Given the description of an element on the screen output the (x, y) to click on. 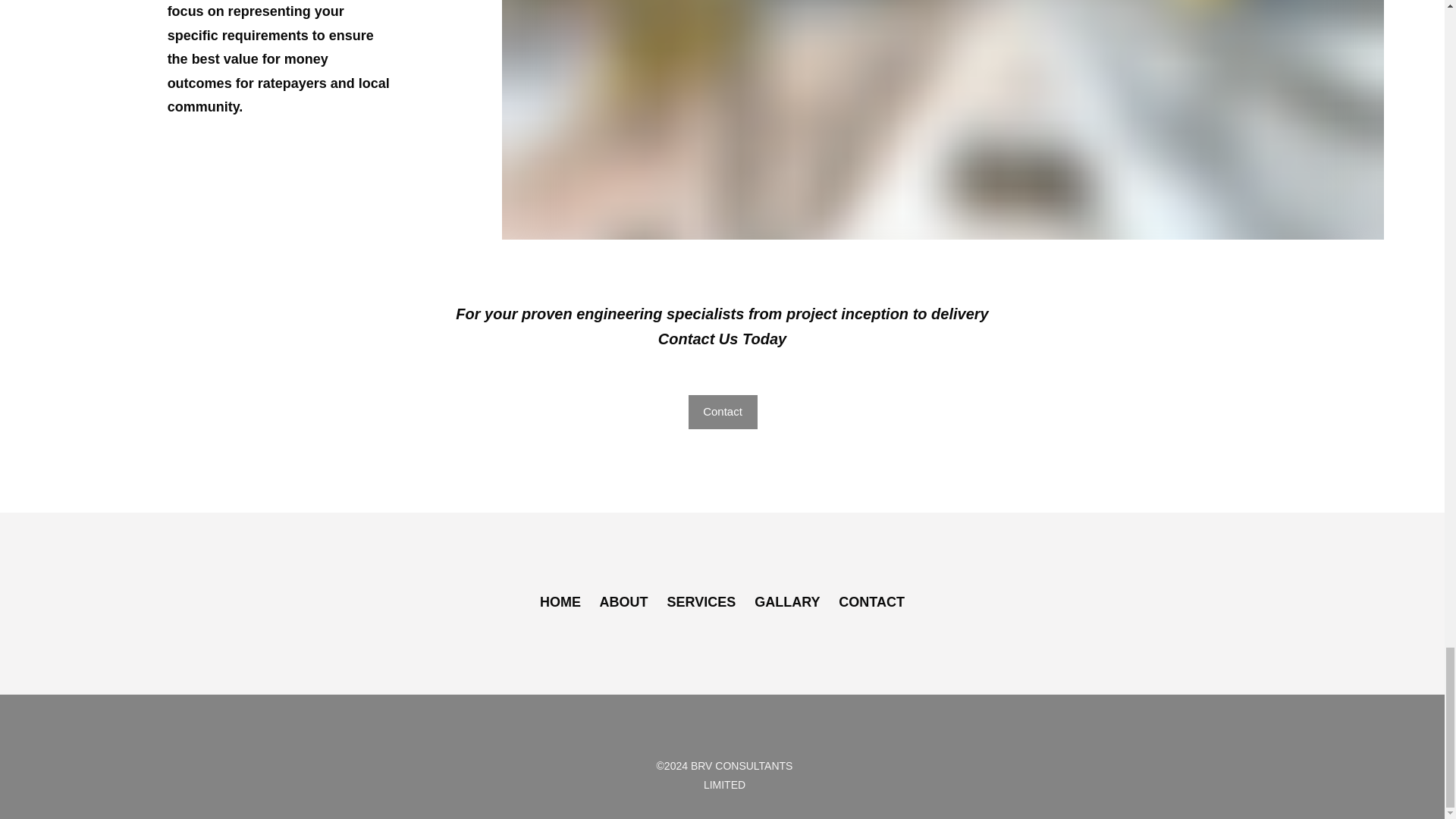
HOME (560, 601)
SERVICES (700, 601)
Contact (722, 411)
ABOUT  (624, 601)
GALLARY (786, 601)
CONTACT (871, 601)
